Given the description of an element on the screen output the (x, y) to click on. 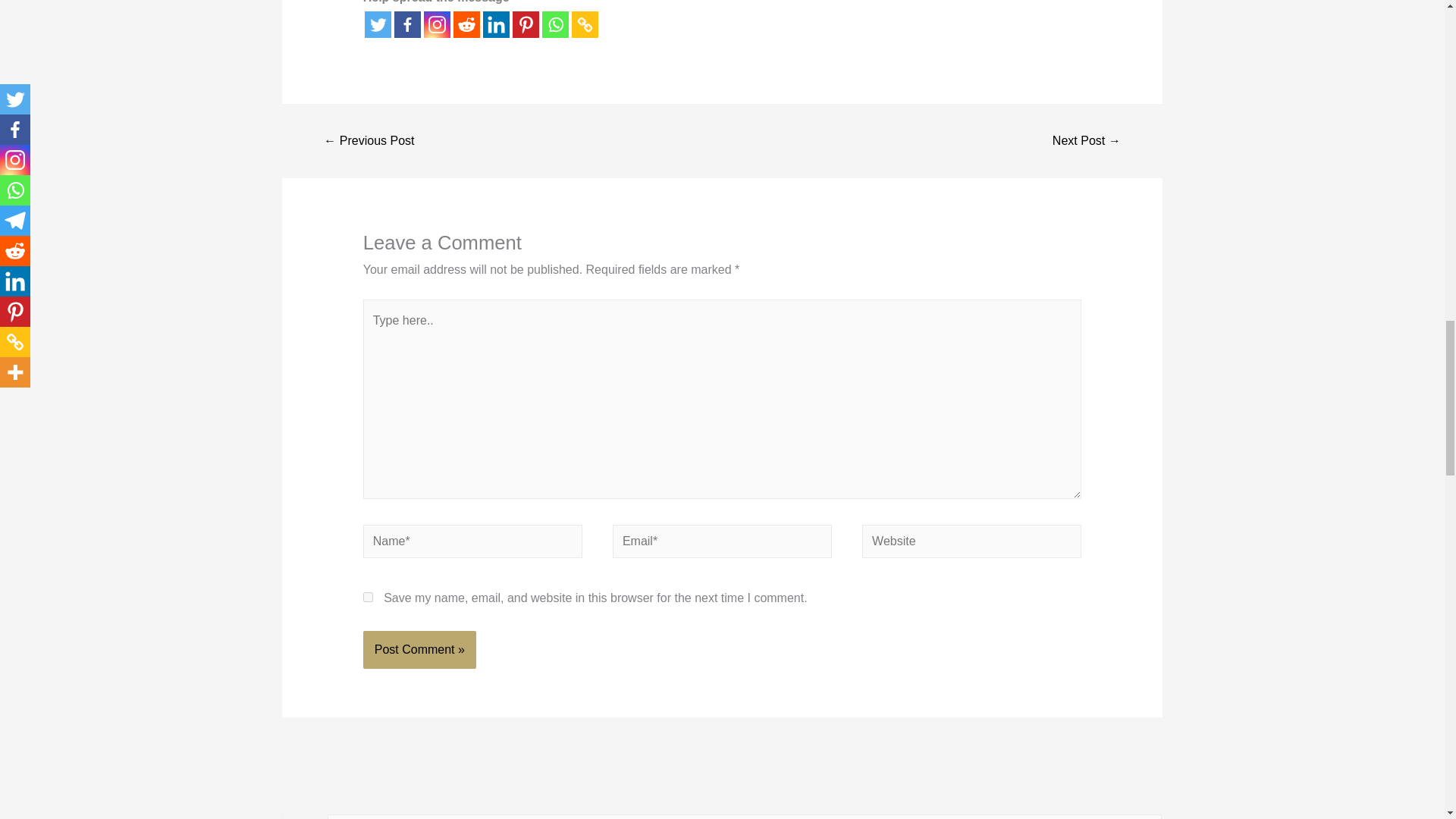
Instagram (436, 24)
Search (1143, 816)
Reddit (466, 24)
Linkedin (496, 24)
Whatsapp (555, 24)
Facebook (407, 24)
Search (1143, 816)
Copy Link (585, 24)
Search (1143, 816)
Twitter (378, 24)
